Given the description of an element on the screen output the (x, y) to click on. 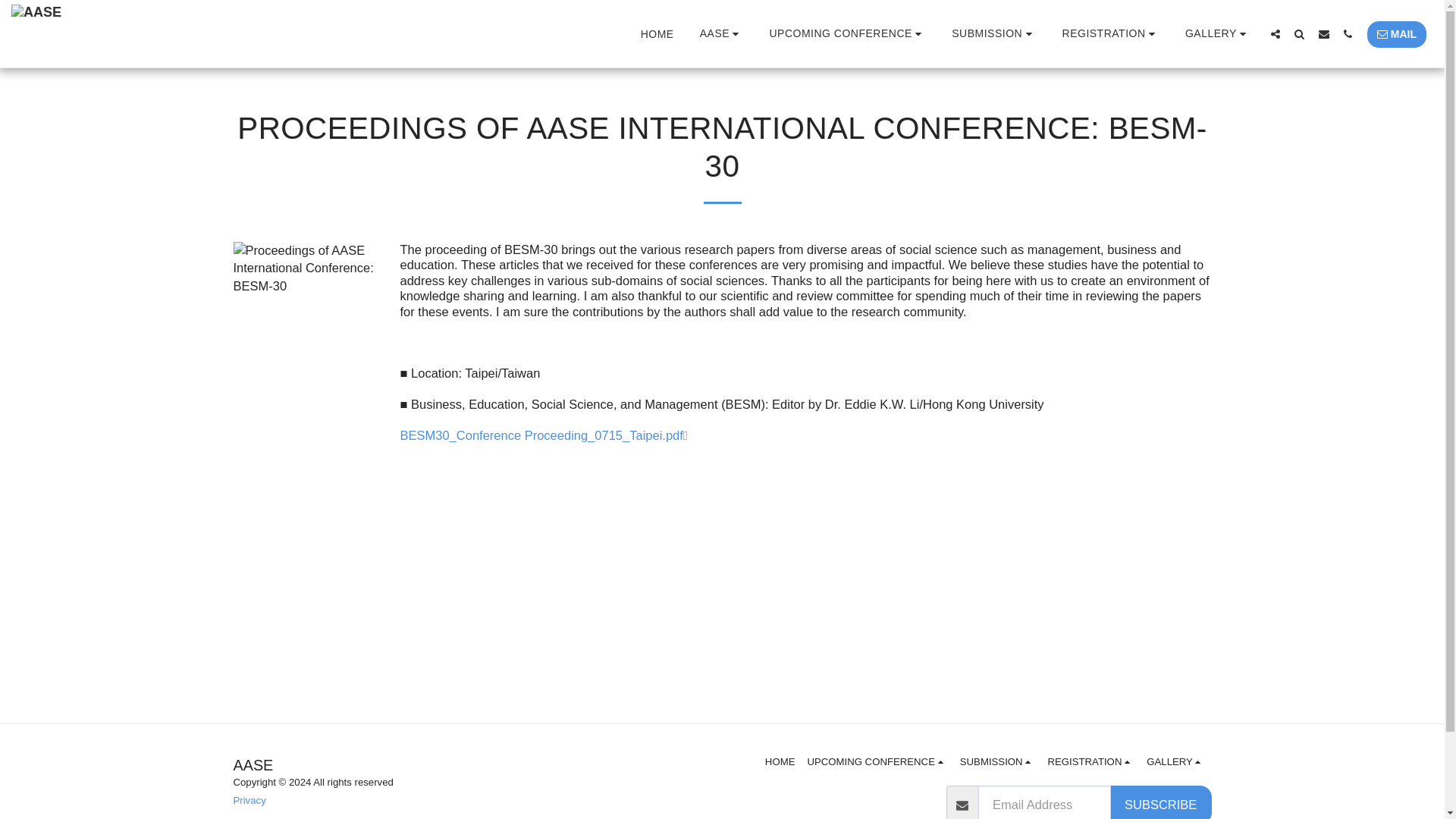
HOME (656, 33)
SUBMISSION   (993, 33)
GALLERY   (1217, 33)
  MAIL (1396, 32)
AASE   (721, 33)
  MAIL (1396, 34)
